Given the description of an element on the screen output the (x, y) to click on. 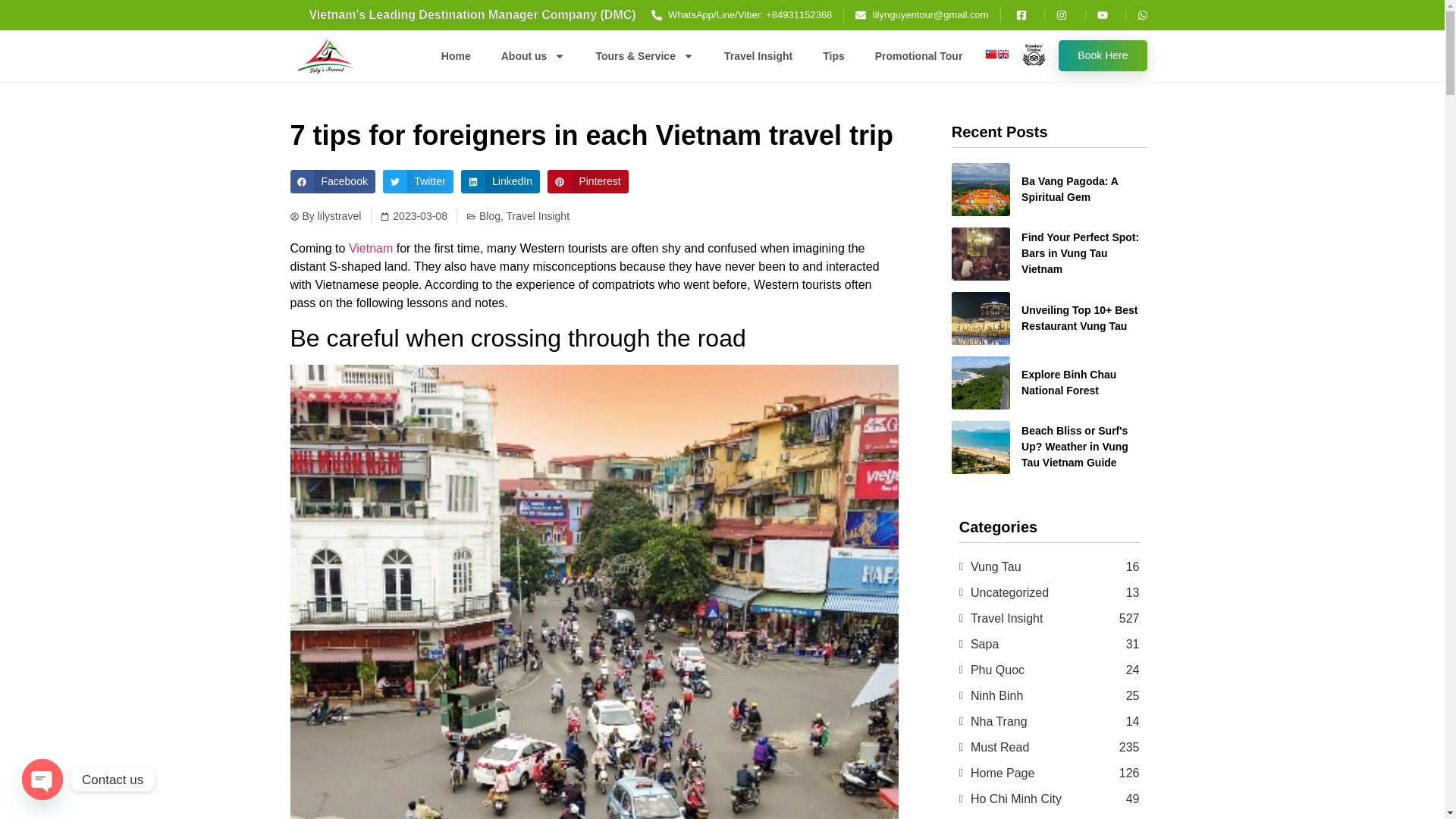
Promotional Tour (919, 54)
About us (533, 54)
Home (456, 54)
Tips (834, 54)
Travel Insight (758, 54)
